Given the description of an element on the screen output the (x, y) to click on. 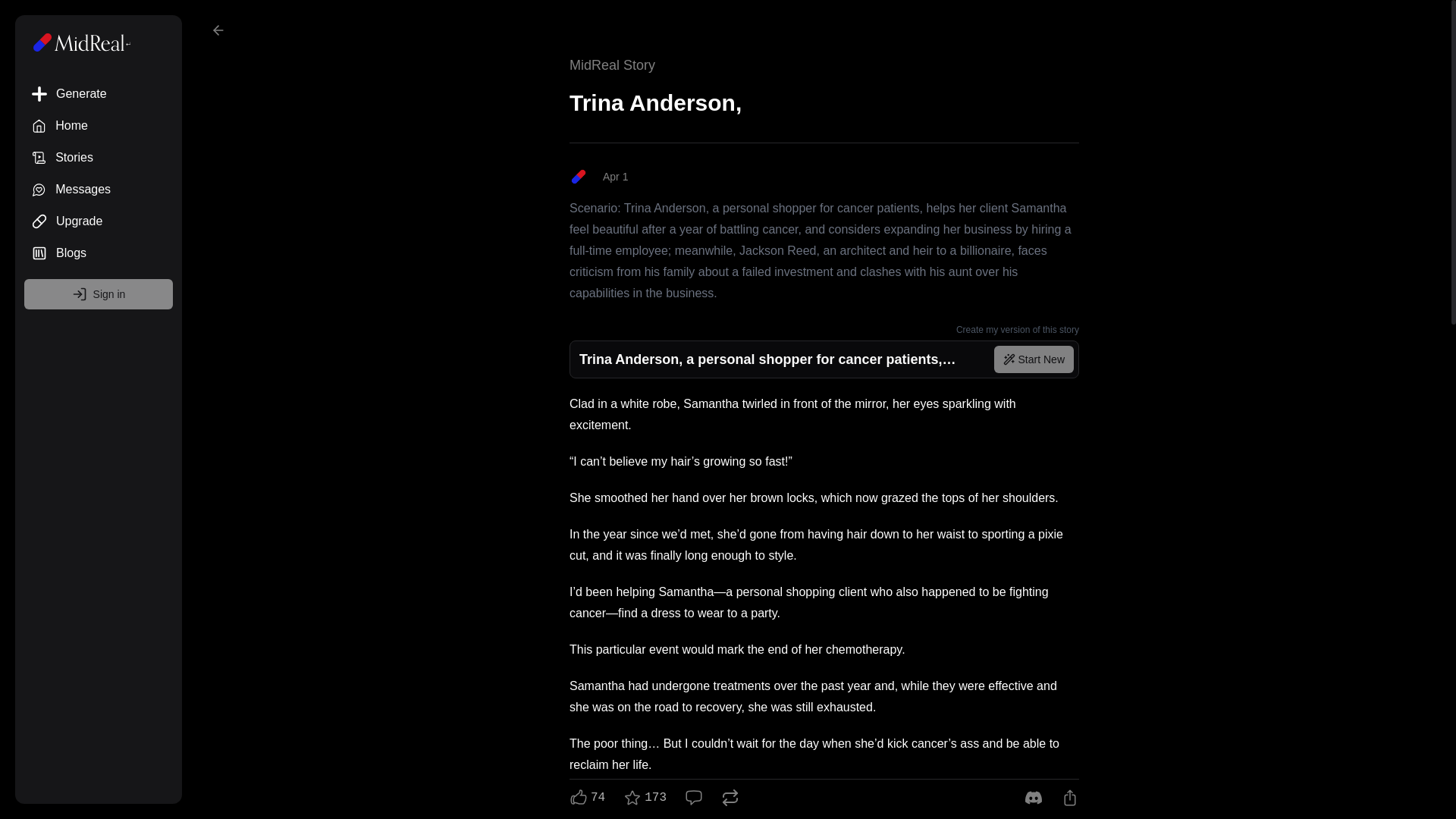
Messages (98, 189)
Blogs (98, 253)
Apr 1 (823, 176)
Upgrade (98, 221)
Start New (1034, 359)
Home (98, 125)
Stories (98, 157)
Sign in (98, 294)
Generate (98, 93)
